Given the description of an element on the screen output the (x, y) to click on. 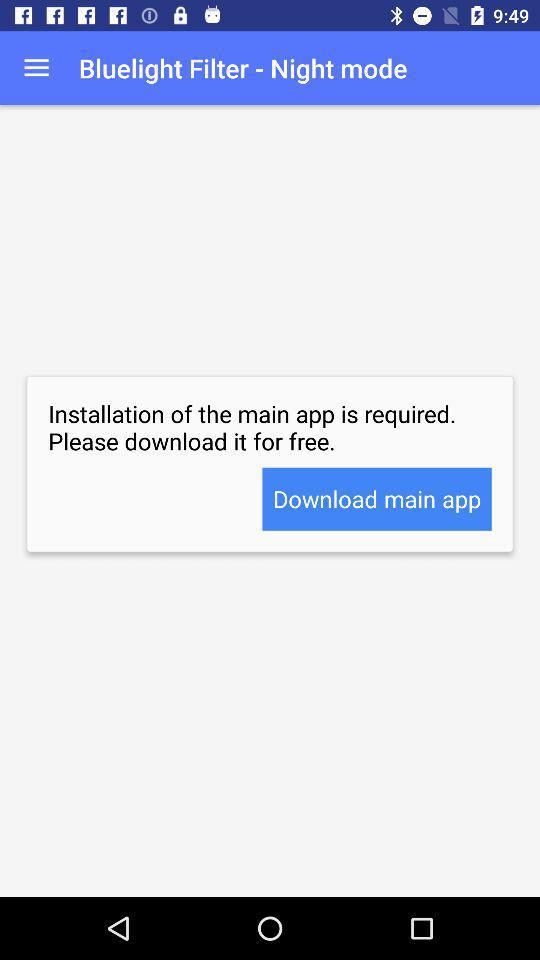
turn off the icon next to the bluelight filter night icon (36, 68)
